Given the description of an element on the screen output the (x, y) to click on. 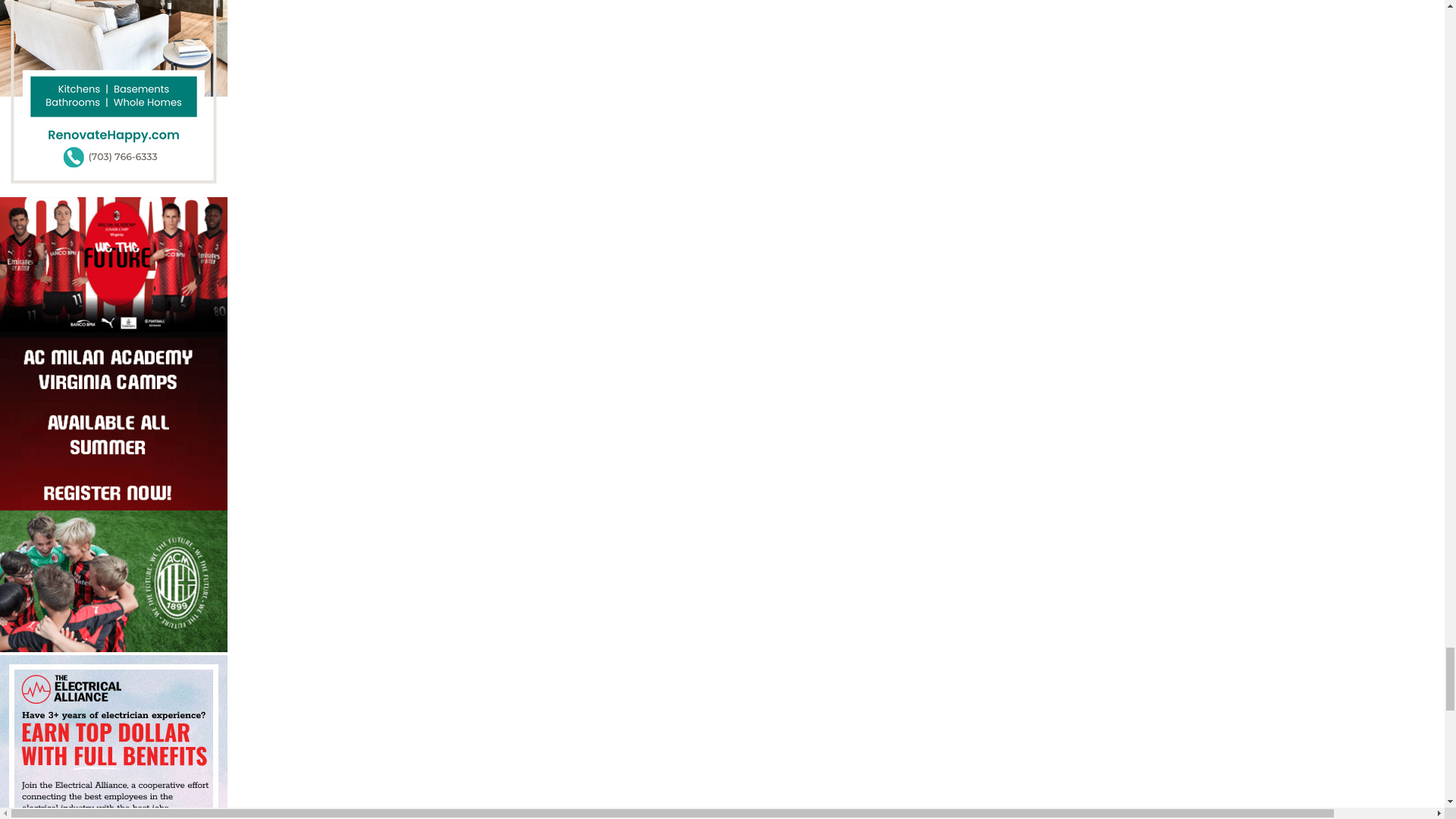
Earn Top Dollar FFXnow A (113, 737)
Synergy Reston Remodeler (113, 98)
